Given the description of an element on the screen output the (x, y) to click on. 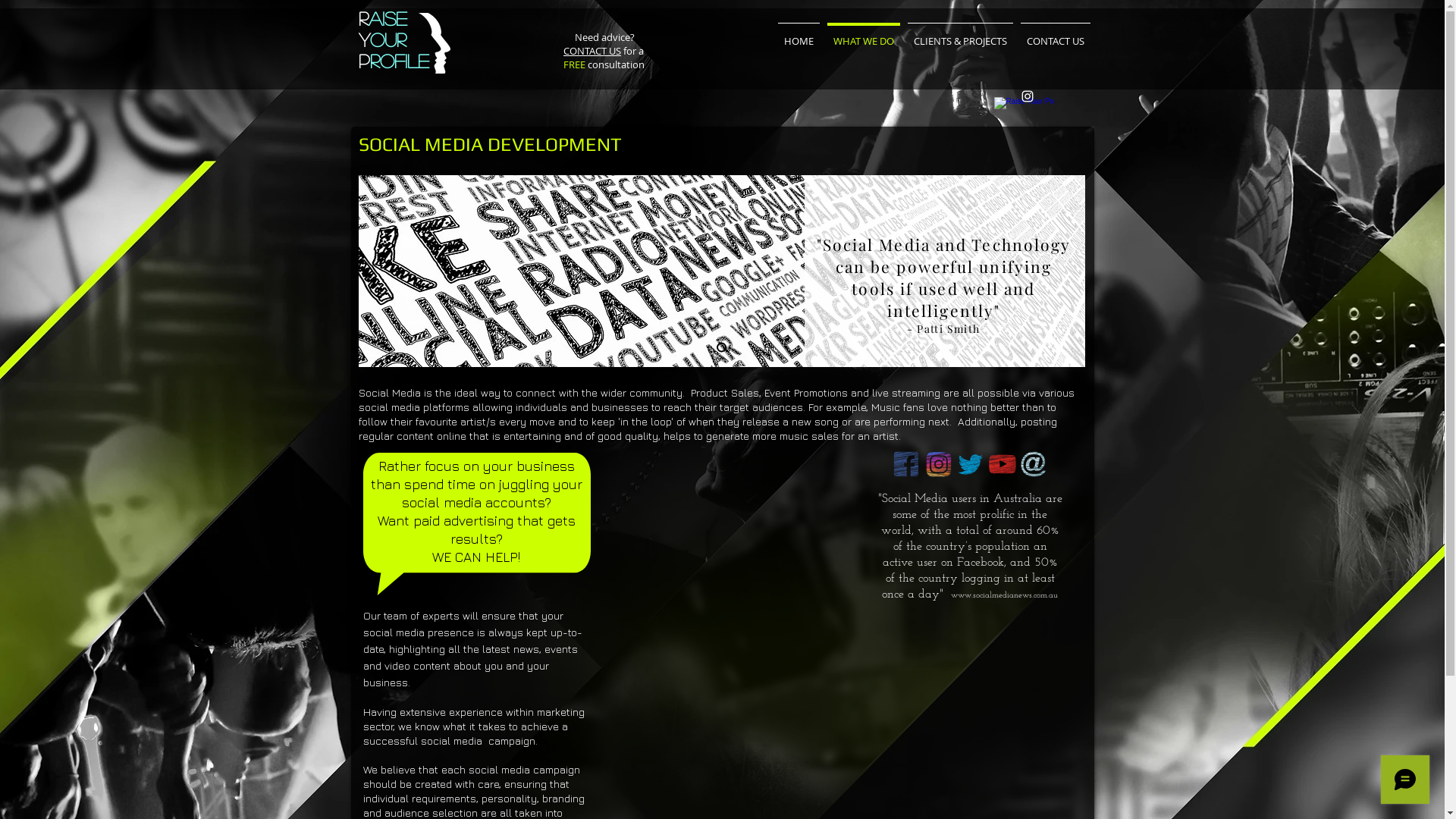
WHAT WE DO Element type: text (863, 33)
www.socialmedianews.com.au Element type: text (1003, 595)
CLIENTS & PROJECTS Element type: text (959, 33)
CONTACT US Element type: text (1054, 33)
CONTACT US Element type: text (592, 50)
HOME Element type: text (797, 33)
